Given the description of an element on the screen output the (x, y) to click on. 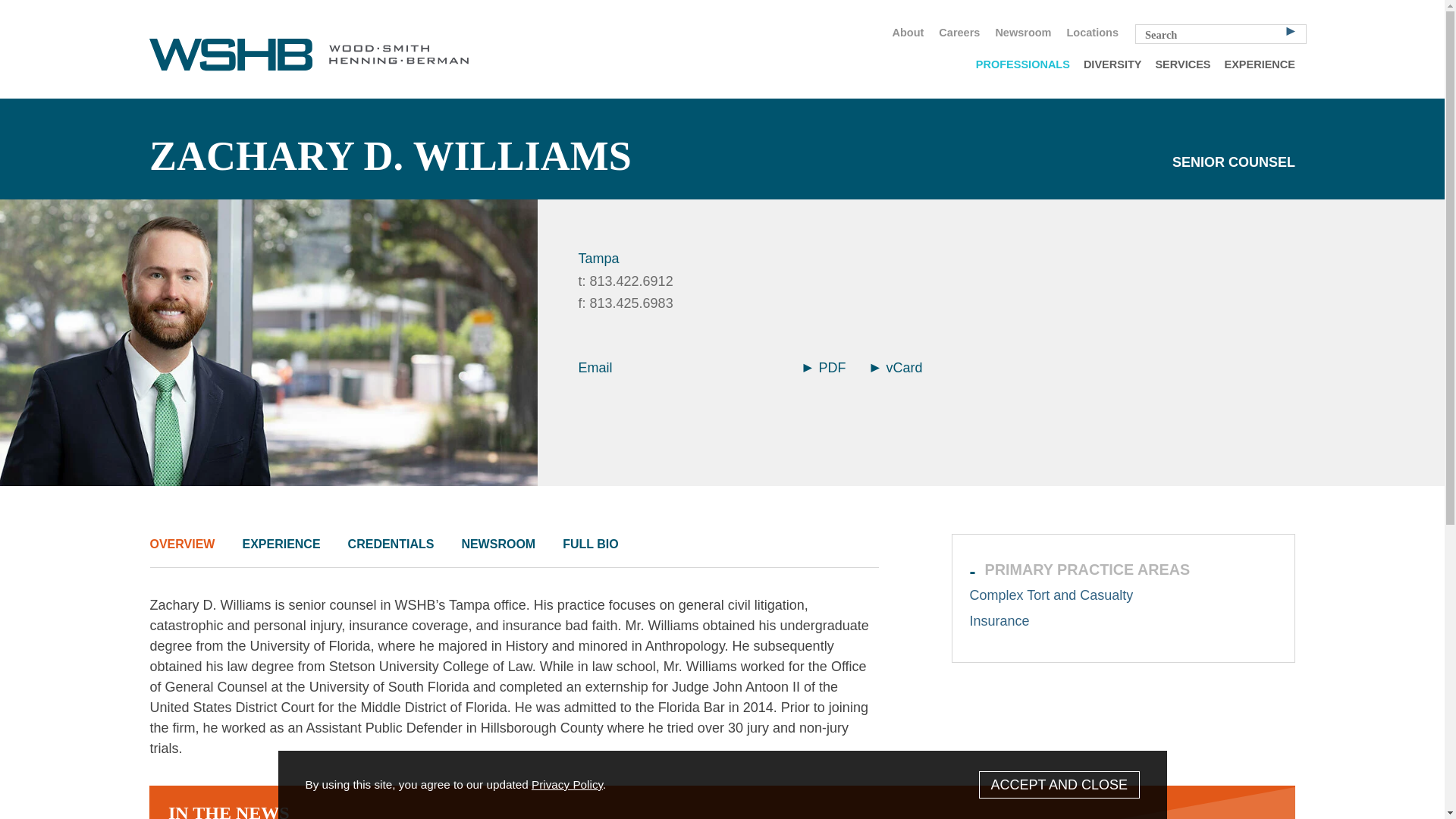
About (907, 32)
Main Menu (676, 17)
Arrow Icon (874, 367)
Main Content (669, 17)
DIVERSITY (1112, 63)
Arrow Icon (1290, 31)
Menu (676, 17)
PROFESSIONALS (1023, 63)
Arrow Icon (806, 367)
Careers (959, 32)
